Given the description of an element on the screen output the (x, y) to click on. 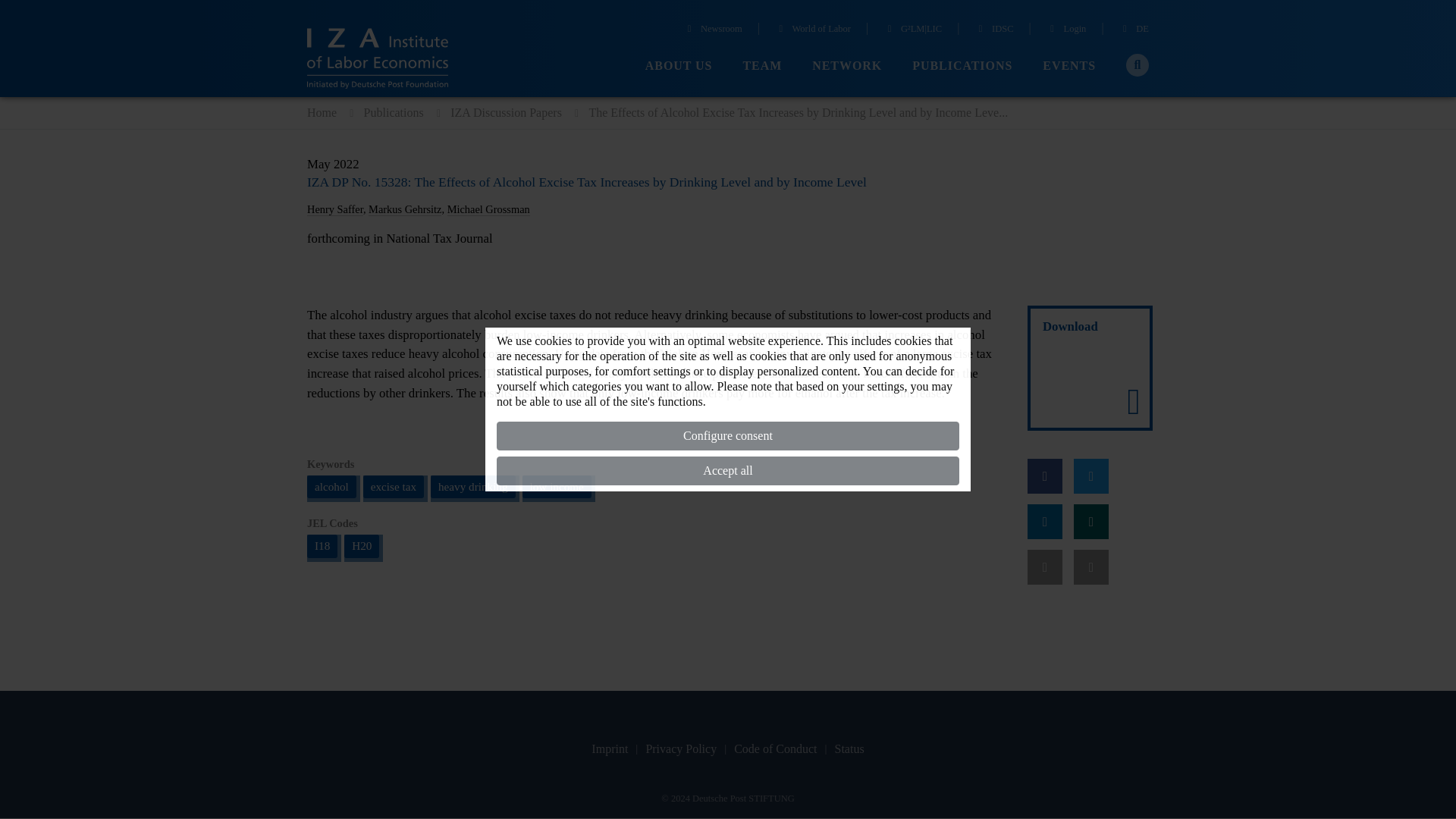
TEAM (761, 66)
Login (1066, 30)
PUBLICATIONS (961, 66)
IDSC (993, 30)
DE (1133, 30)
EVENTS (1069, 66)
NETWORK (847, 66)
ABOUT US (679, 66)
Newsroom (712, 30)
World of Labor (812, 30)
